Given the description of an element on the screen output the (x, y) to click on. 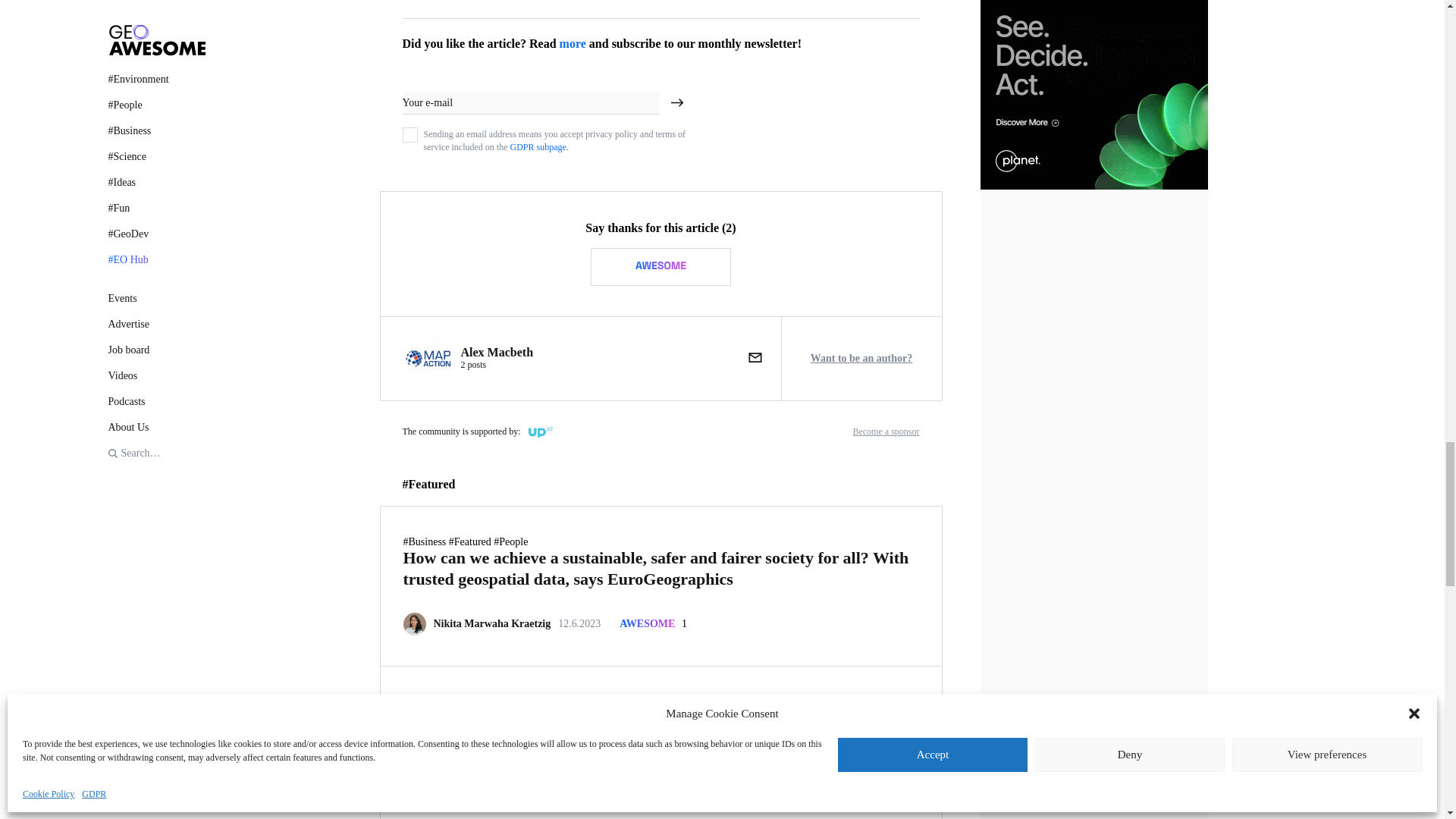
1 (409, 132)
